Given the description of an element on the screen output the (x, y) to click on. 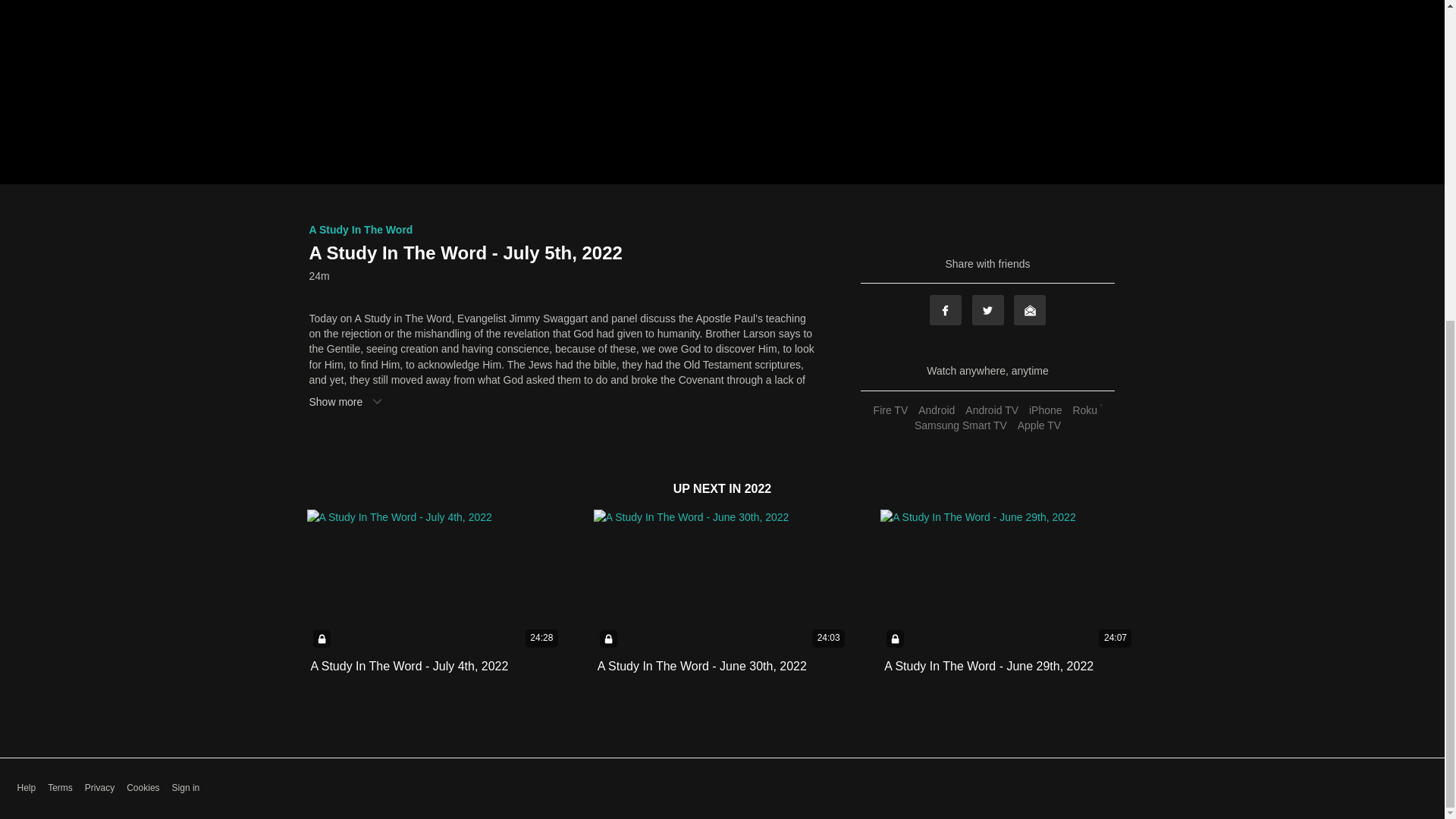
Fire TV (890, 410)
A Study In The  Word - July 4th, 2022 (409, 666)
Android TV (991, 410)
Email (1029, 309)
A Study In The Word - June 30th, 2022 (701, 666)
Android (936, 410)
Twitter (988, 309)
A Study In The Word (360, 229)
A Study In The Word - June 29th, 2022 (988, 666)
Facebook (945, 309)
iPhone (1045, 410)
